Given the description of an element on the screen output the (x, y) to click on. 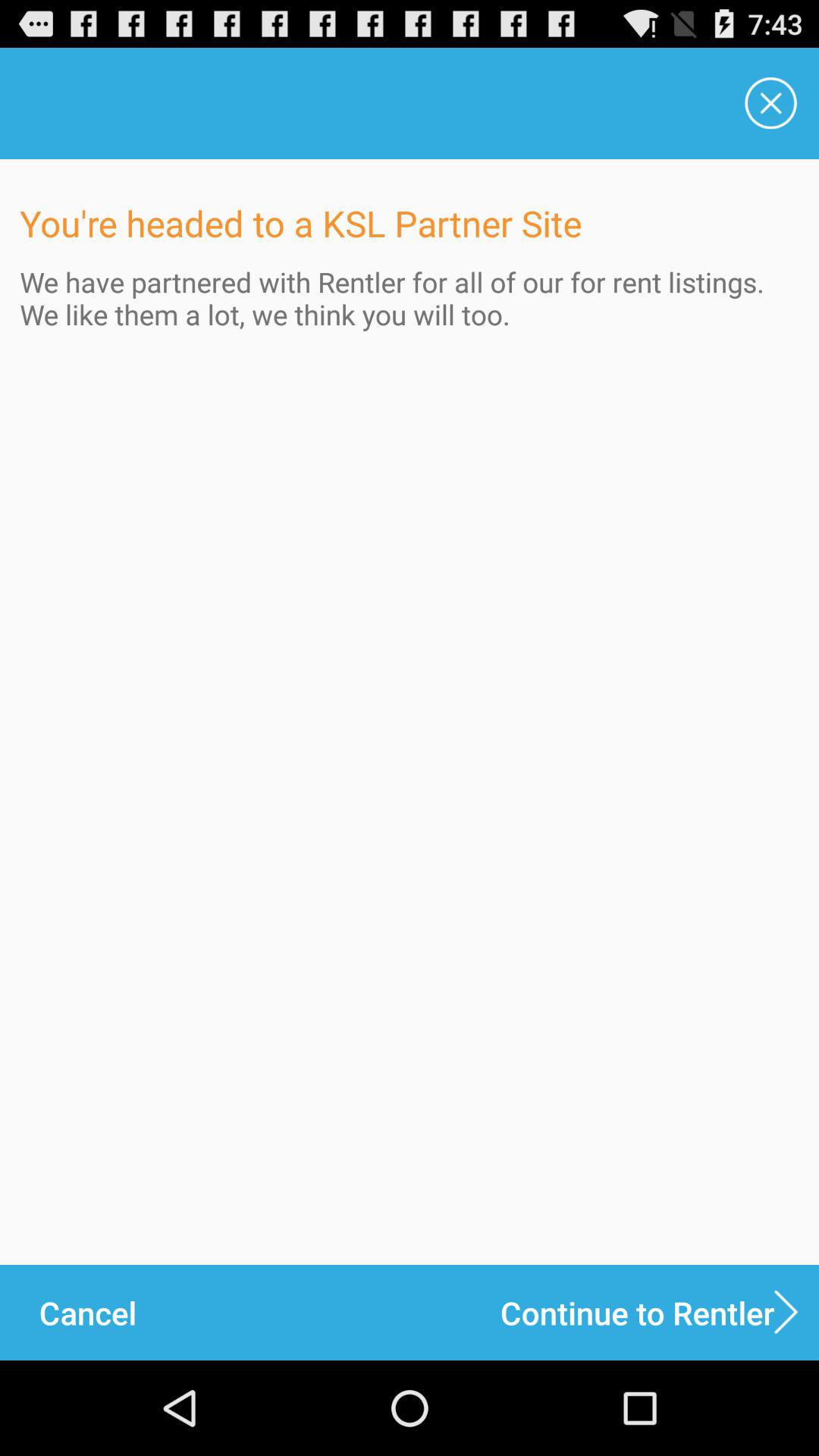
choose the icon at the bottom right corner (659, 1312)
